Given the description of an element on the screen output the (x, y) to click on. 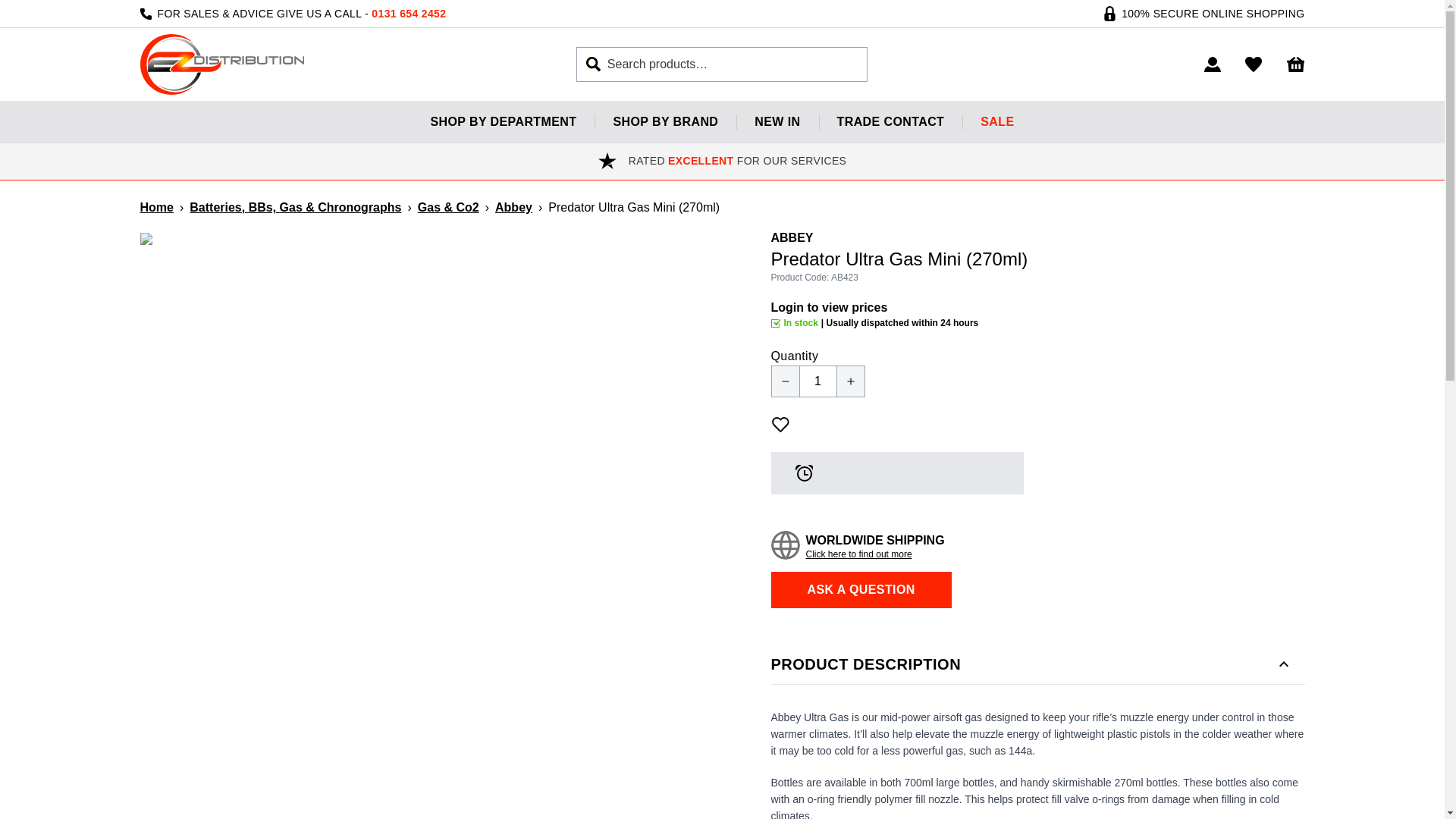
1 (817, 381)
SHOP BY DEPARTMENT (503, 121)
SHOP BY BRAND (665, 121)
